Given the description of an element on the screen output the (x, y) to click on. 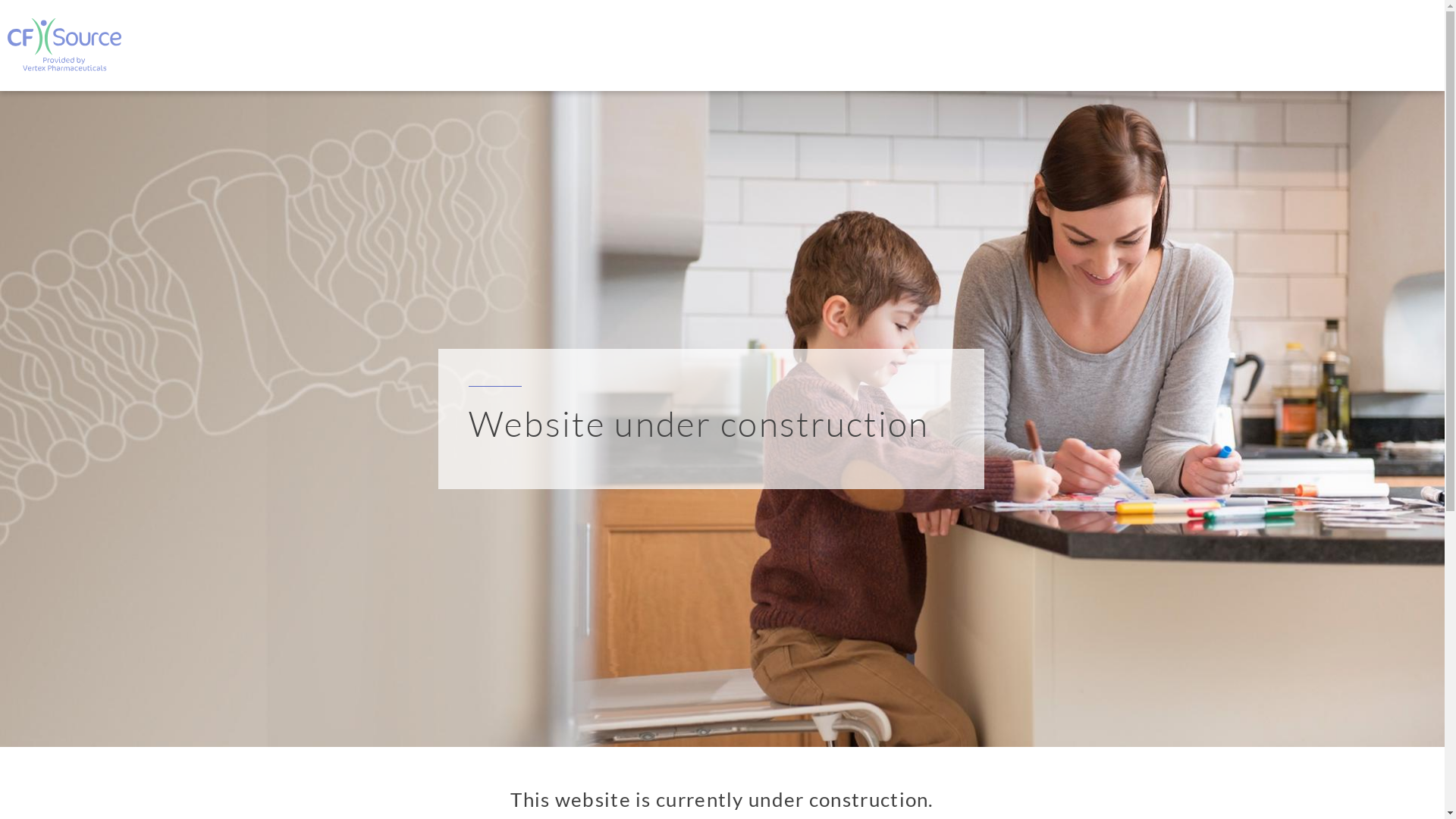
Overslaan en naar de inhoud gaan Element type: text (0, 0)
CFSource Logo Element type: hover (64, 44)
